Given the description of an element on the screen output the (x, y) to click on. 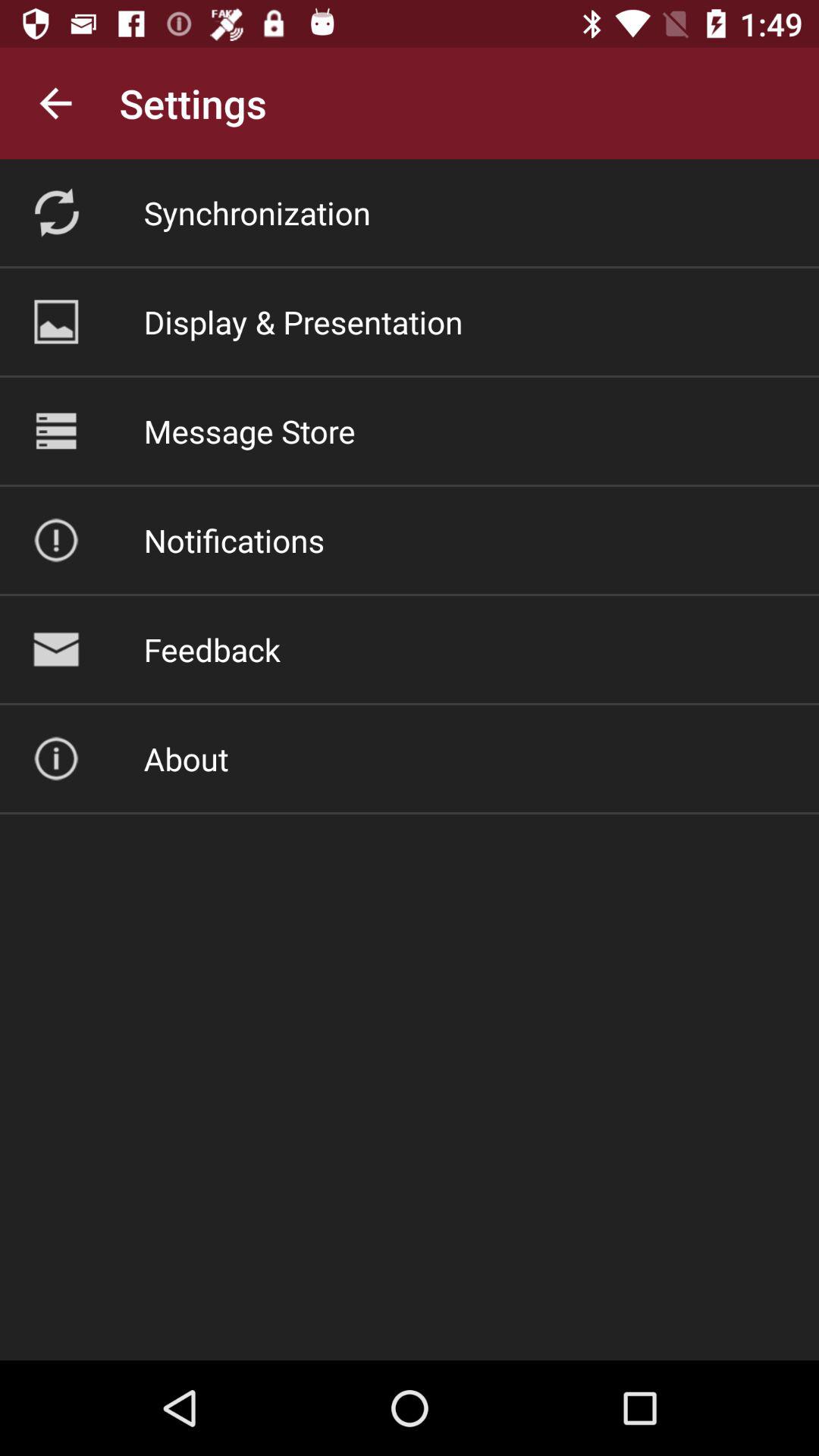
press notifications item (233, 539)
